Given the description of an element on the screen output the (x, y) to click on. 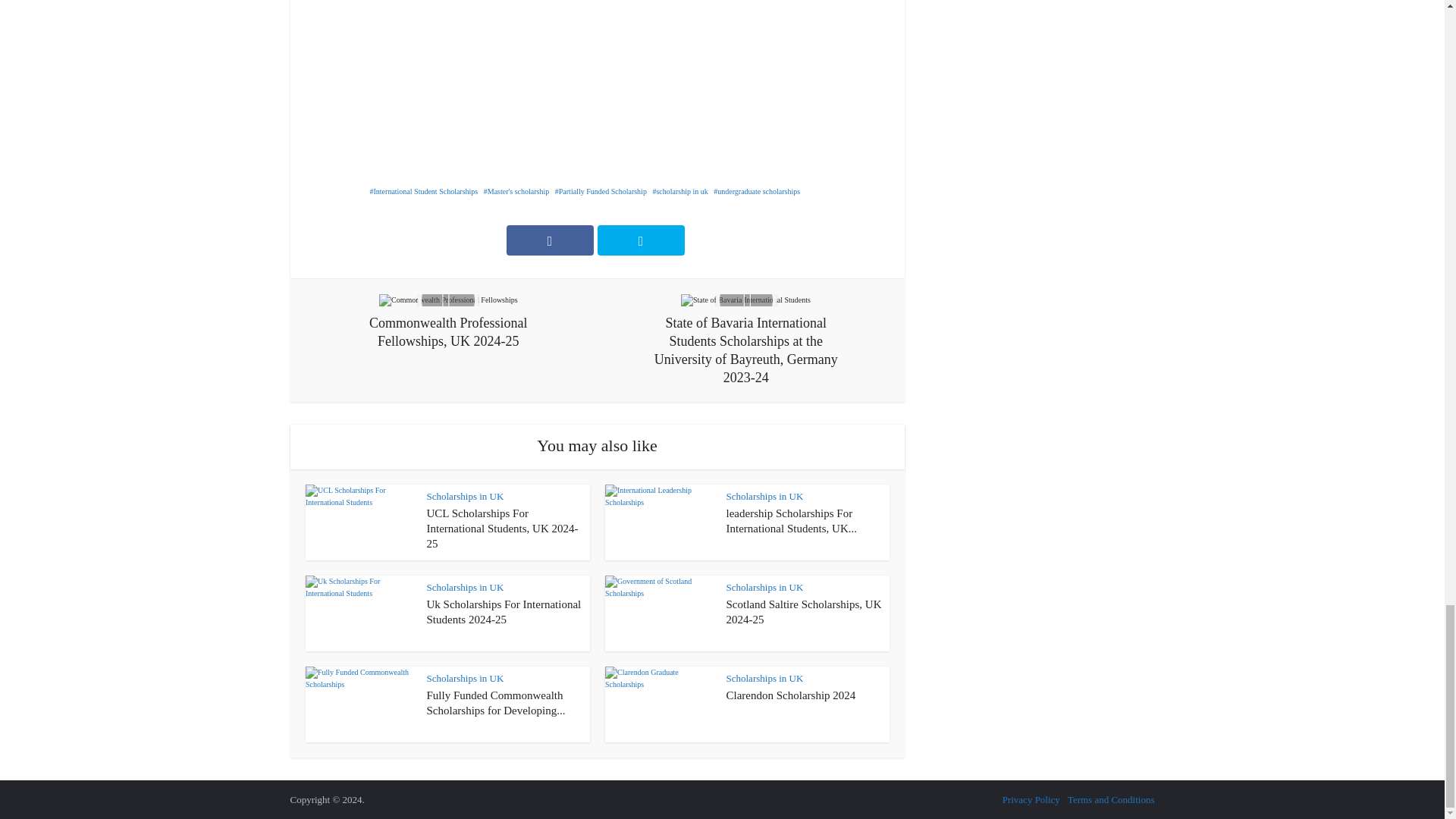
Scotland Saltire Scholarships, UK 2024-25 (804, 611)
International Student Scholarships (424, 191)
Master's scholarship (516, 191)
Uk Scholarships For International Students 2024-25 5 (359, 613)
UCL Scholarships For International Students, UK 2024-25 (502, 528)
Scotland Saltire Scholarships, UK 2024-25 6 (659, 613)
UCL Scholarships For International Students, UK 2024-25 3 (359, 522)
Commonwealth Professional Fellowships, UK 2024-25 1 (448, 300)
Partially Funded Scholarship (600, 191)
Uk Scholarships For International Students 2024-25 (503, 611)
